Given the description of an element on the screen output the (x, y) to click on. 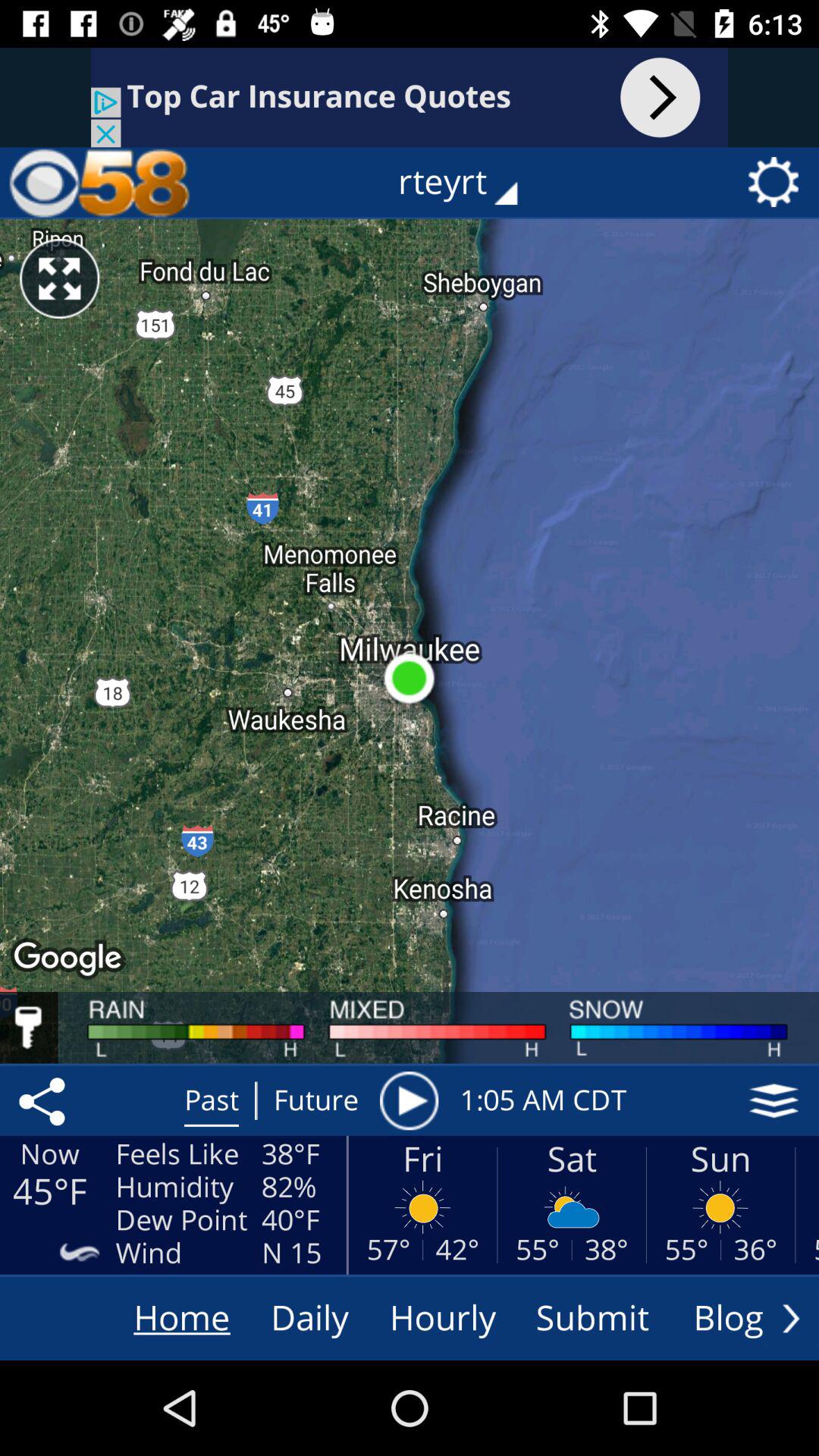
share location (44, 1100)
